Given the description of an element on the screen output the (x, y) to click on. 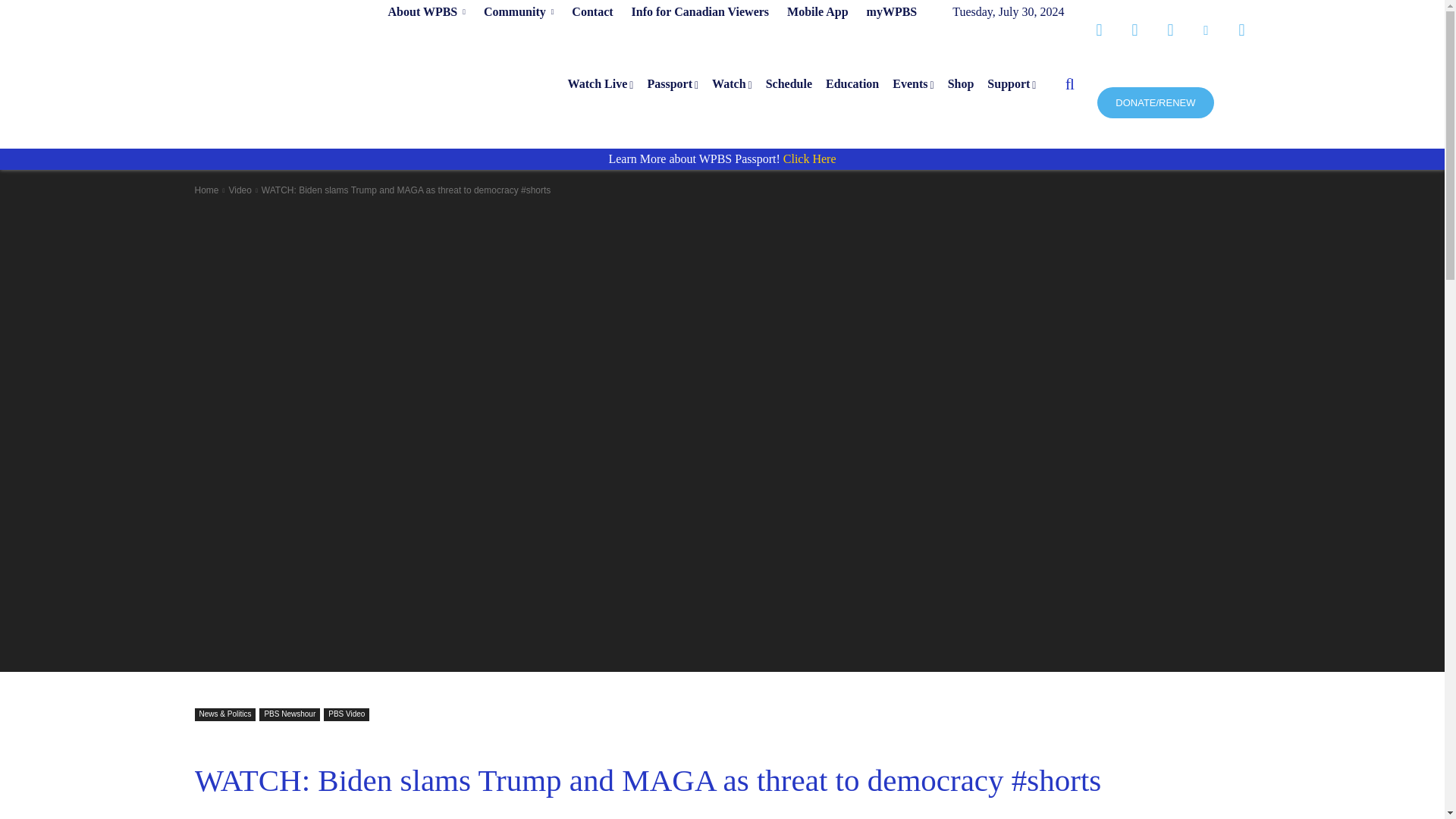
Youtube (1241, 30)
Facebook (1098, 30)
Vimeo (1206, 30)
Instagram (1134, 30)
Twitter (1169, 30)
